Given the description of an element on the screen output the (x, y) to click on. 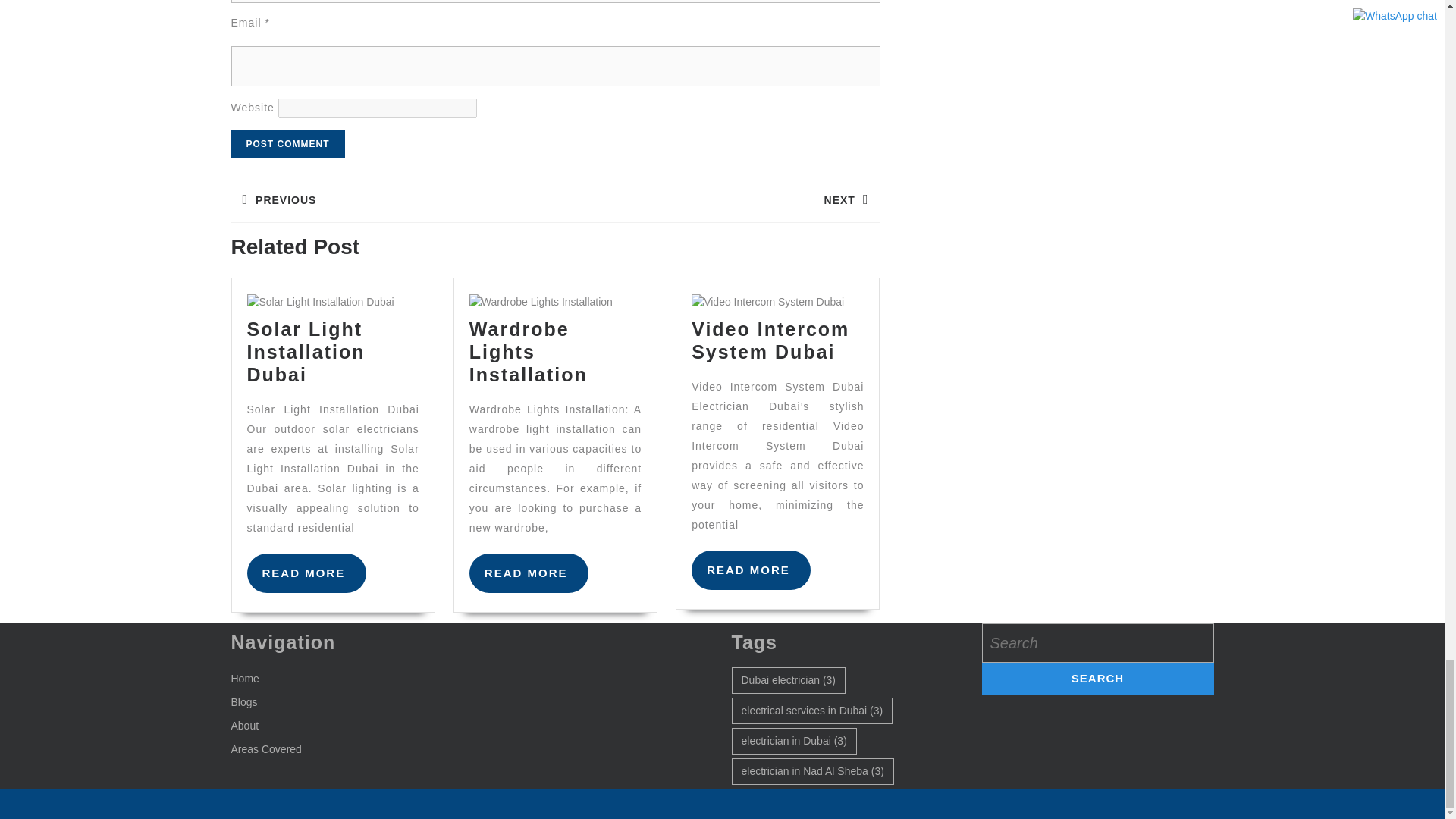
Search (1096, 678)
Post Comment (286, 143)
Search (1096, 678)
